Given the description of an element on the screen output the (x, y) to click on. 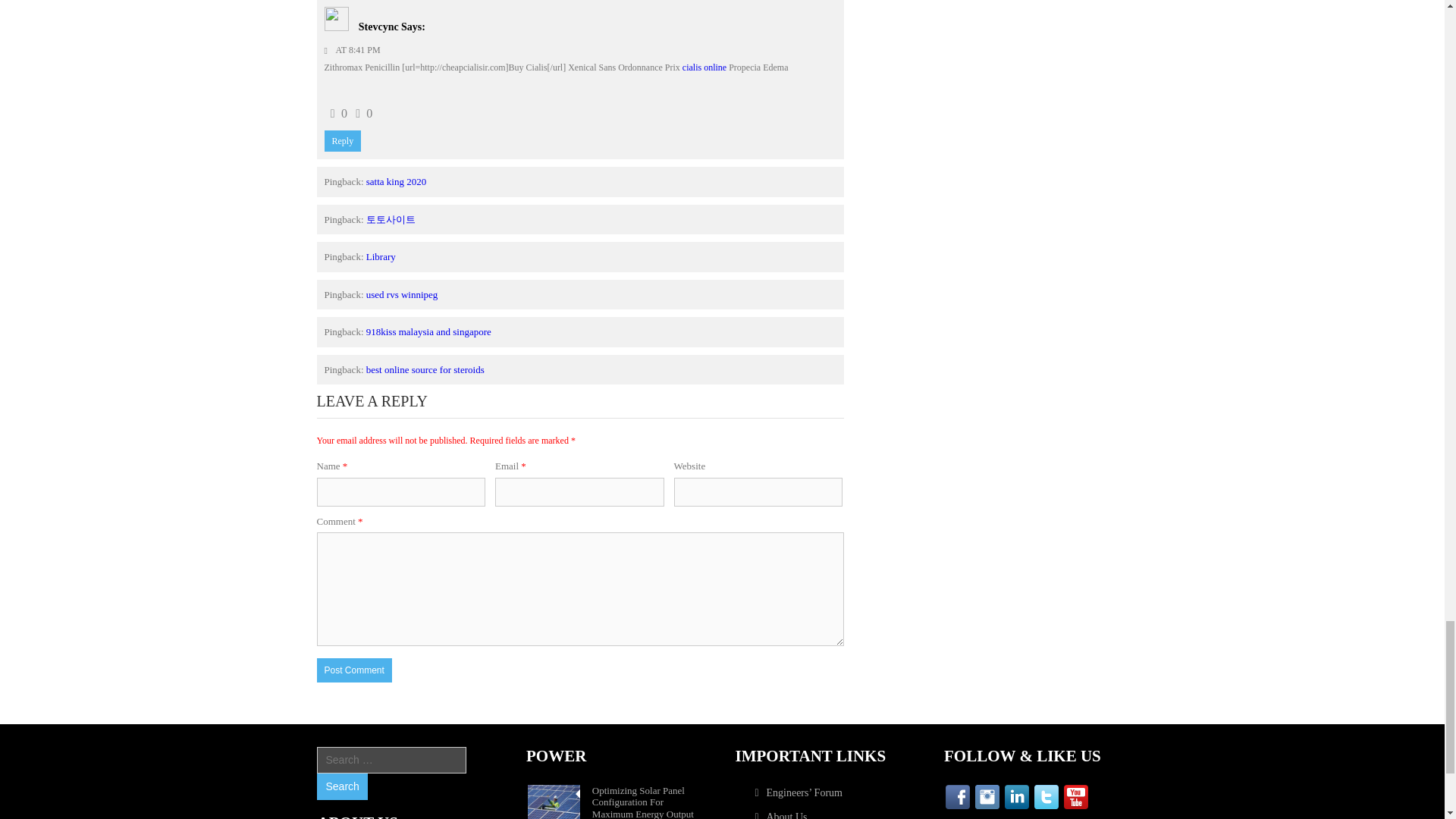
Post Comment (354, 670)
Search (341, 786)
Search (341, 786)
